Given the description of an element on the screen output the (x, y) to click on. 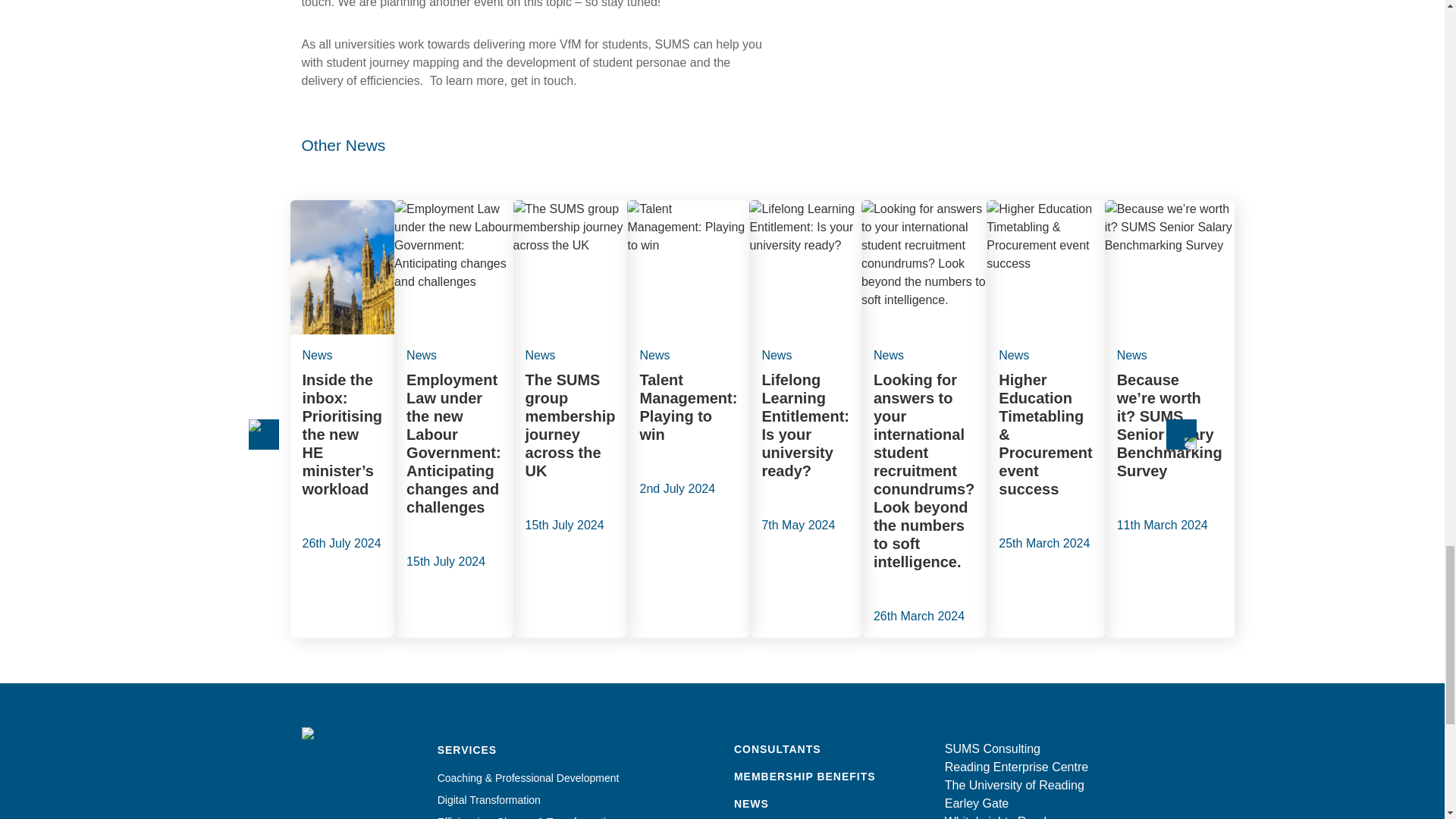
Digital Transformation (489, 799)
